Given the description of an element on the screen output the (x, y) to click on. 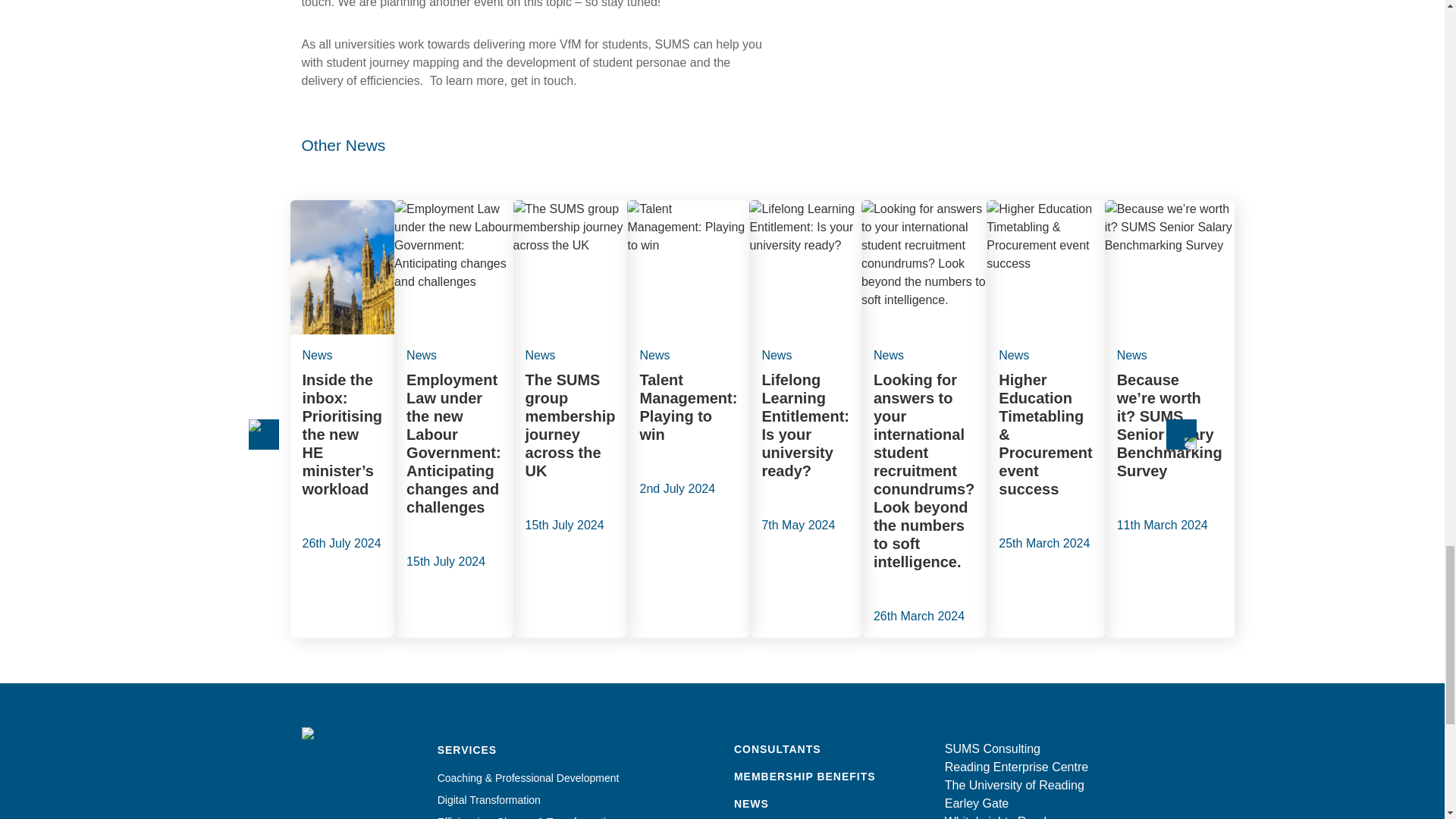
Digital Transformation (489, 799)
